Given the description of an element on the screen output the (x, y) to click on. 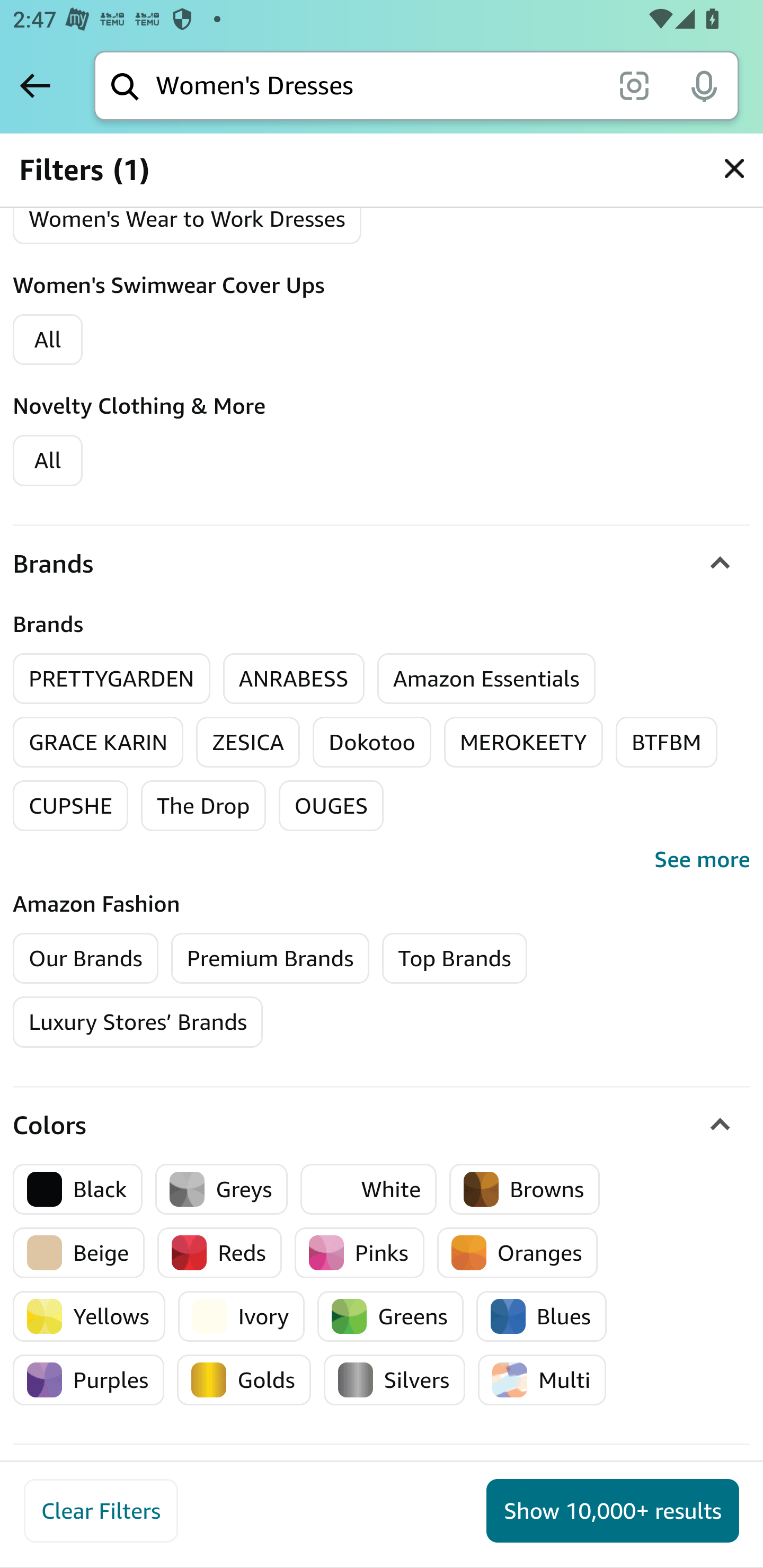
Back (35, 85)
scan it (633, 85)
Women's Club & Night Out Dresses (205, 157)
Women's Wear to Work Dresses (187, 218)
All (47, 339)
All (47, 460)
Brands (381, 562)
PRETTYGARDEN (111, 678)
ANRABESS (293, 678)
Amazon Essentials (485, 678)
GRACE KARIN (98, 742)
ZESICA (247, 742)
Dokotoo (371, 742)
MEROKEETY (523, 742)
BTFBM (666, 742)
CUPSHE (70, 806)
The Drop (203, 806)
OUGES (331, 806)
See more, Brands See more (381, 859)
Our Brands (85, 958)
Premium Brands (270, 958)
Top Brands (454, 958)
Luxury Stores’ Brands (137, 1021)
Colors (381, 1125)
Black Black Black Black (77, 1189)
Greys Greys Greys Greys (221, 1189)
White White White White (368, 1189)
Browns Browns Browns Browns (524, 1189)
Beige Beige Beige Beige (79, 1252)
Reds Reds Reds Reds (220, 1252)
Pinks Pinks Pinks Pinks (358, 1252)
Oranges Oranges Oranges Oranges (516, 1252)
Yellows Yellows Yellows Yellows (88, 1316)
Ivory Ivory Ivory Ivory (240, 1316)
Greens Greens Greens Greens (389, 1316)
Blues Blues Blues Blues (541, 1316)
Purples Purples Purples Purples (88, 1380)
Golds Golds Golds Golds (243, 1380)
Silvers Silvers Silvers Silvers (393, 1380)
Multi Multi Multi Multi (541, 1380)
Clear Filters (100, 1510)
Show 10,000+ results (612, 1510)
